Given the description of an element on the screen output the (x, y) to click on. 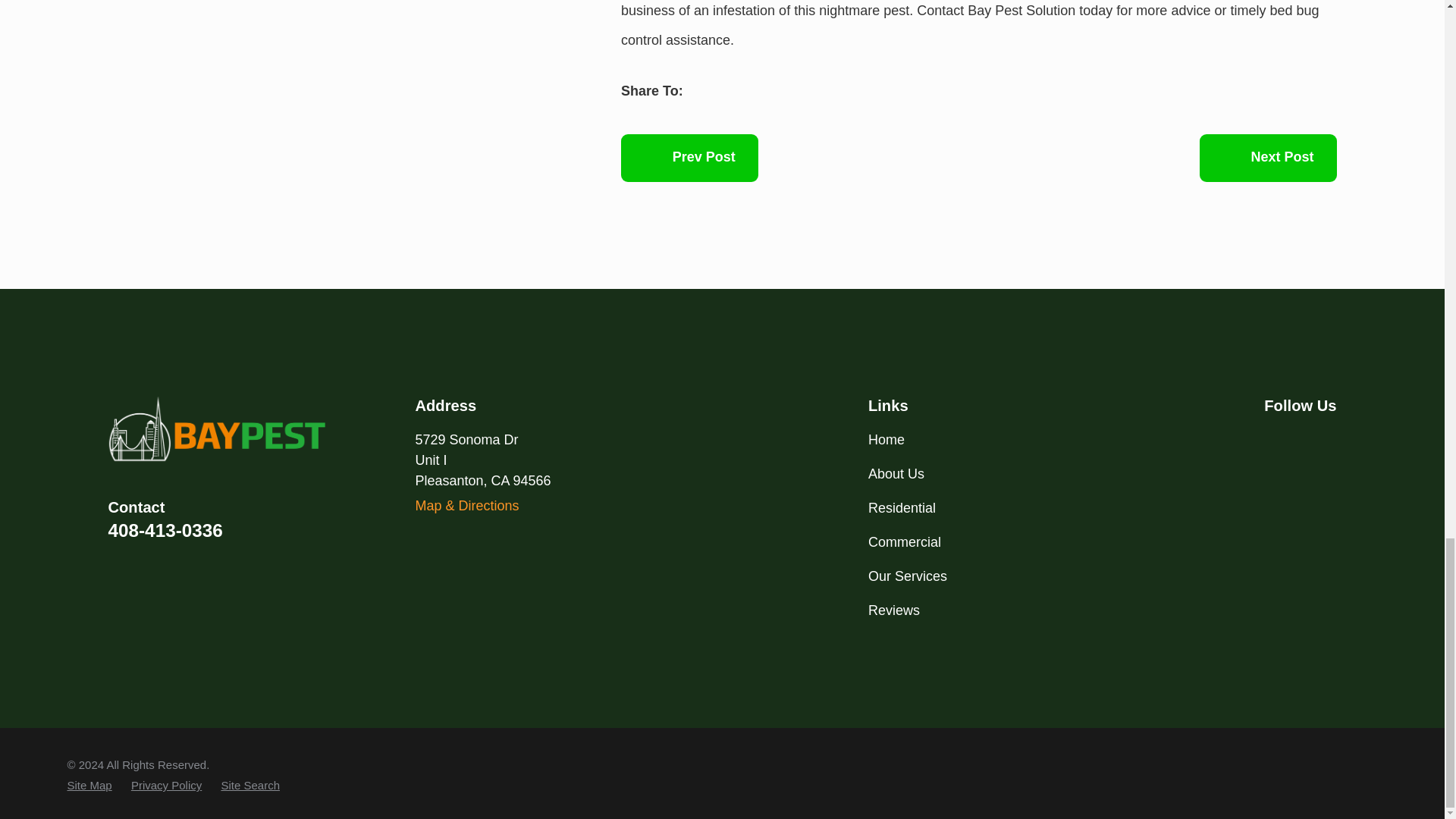
Home (216, 429)
Facebook (1272, 438)
Google Business Profile (1313, 438)
